Given the description of an element on the screen output the (x, y) to click on. 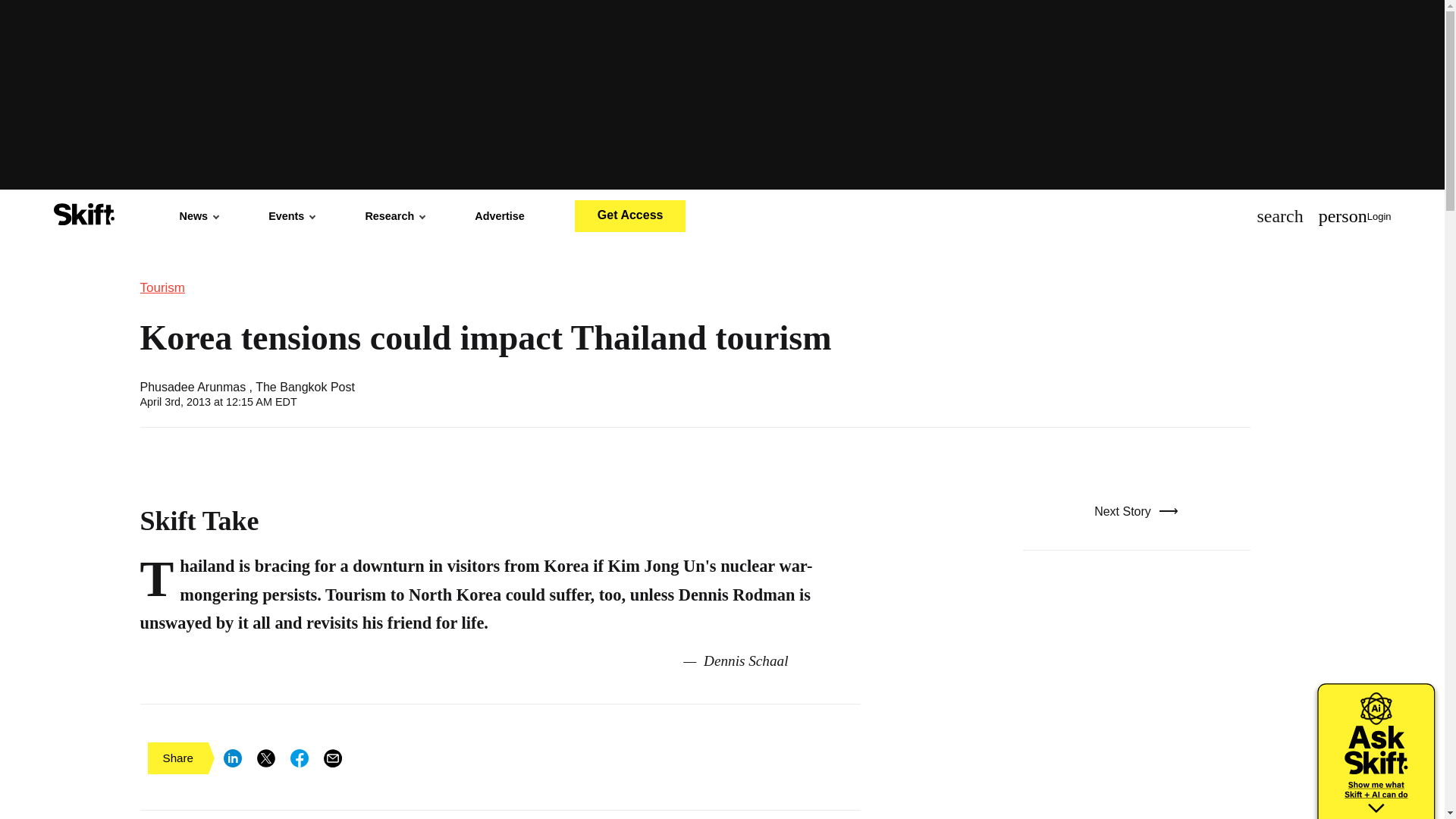
Research (395, 215)
3rd party ad content (1135, 705)
